Given the description of an element on the screen output the (x, y) to click on. 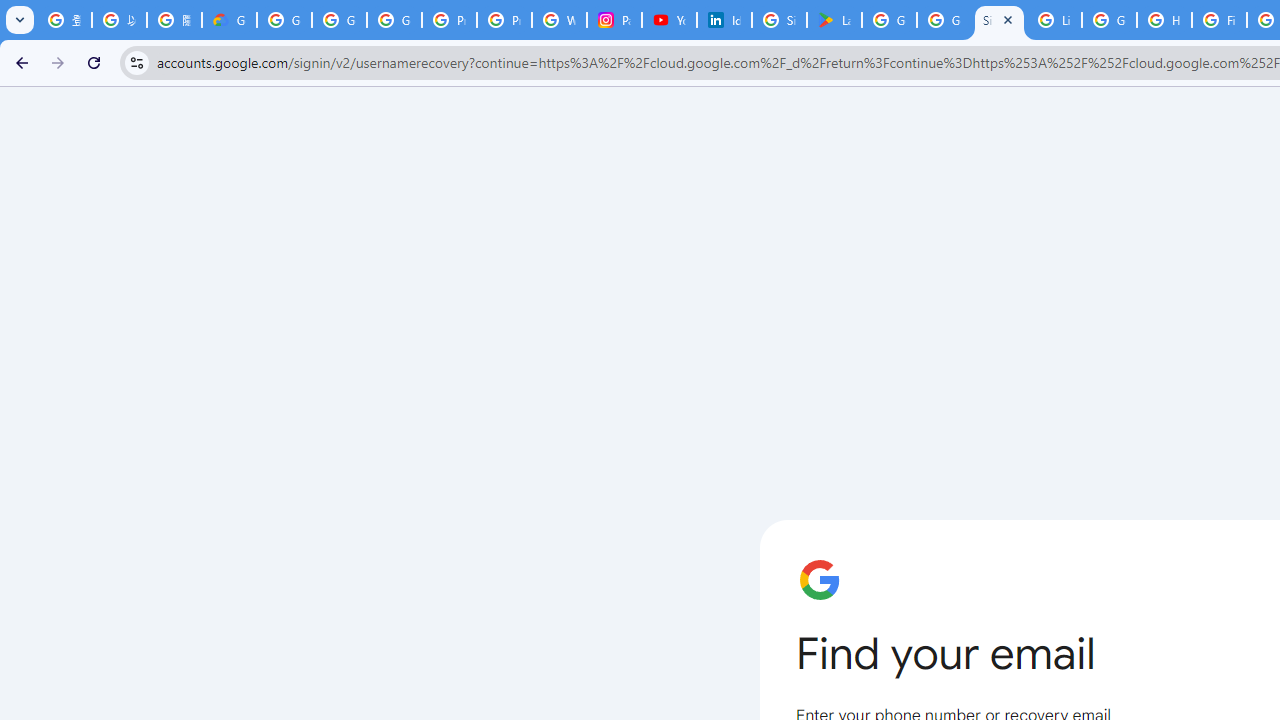
Last Shelter: Survival - Apps on Google Play (833, 20)
Privacy Help Center - Policies Help (504, 20)
Sign in - Google Accounts (998, 20)
